Given the description of an element on the screen output the (x, y) to click on. 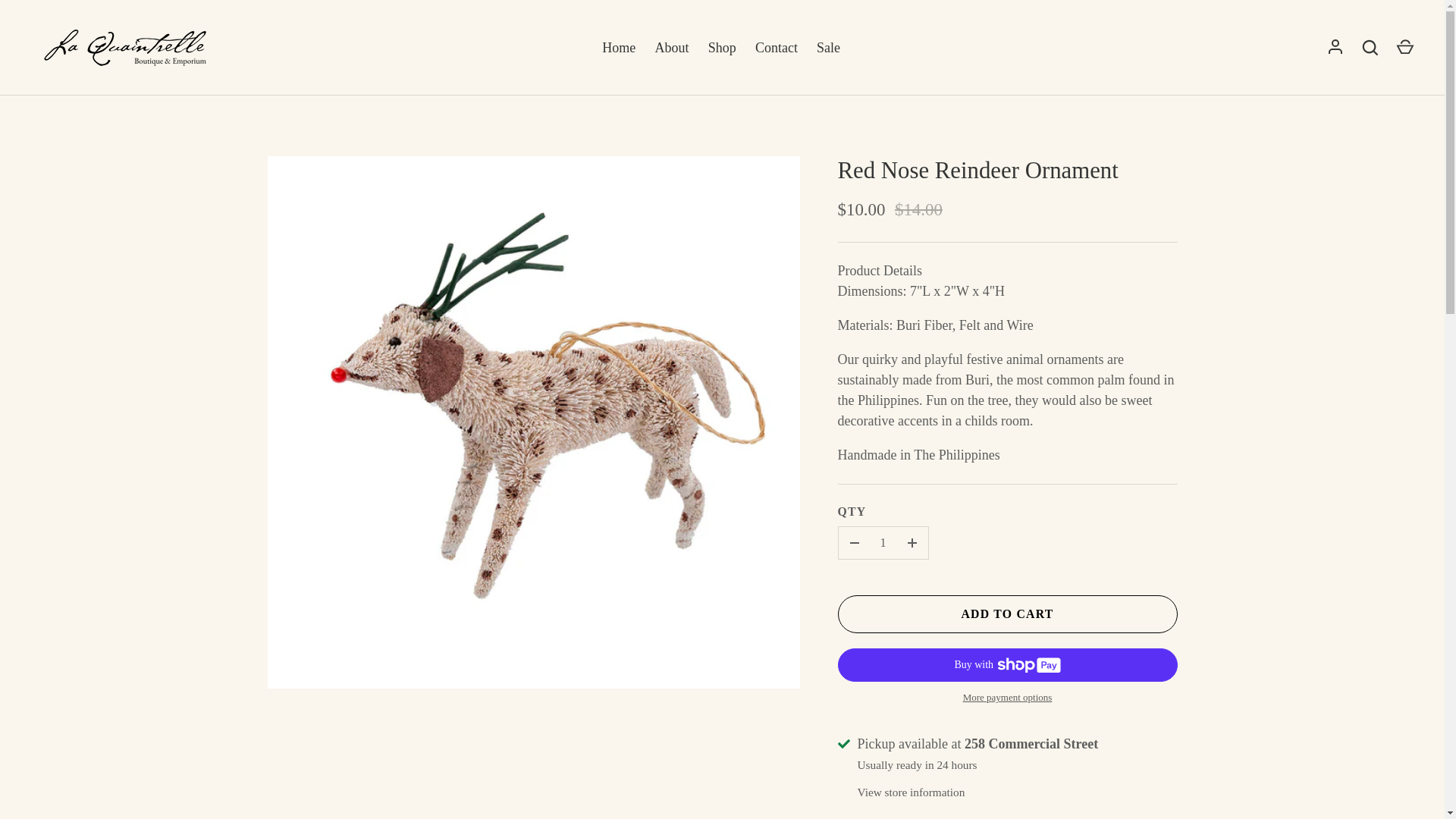
Sale (827, 47)
1 (883, 542)
Contact (775, 47)
About (671, 47)
Shop (721, 47)
Home (618, 47)
